Given the description of an element on the screen output the (x, y) to click on. 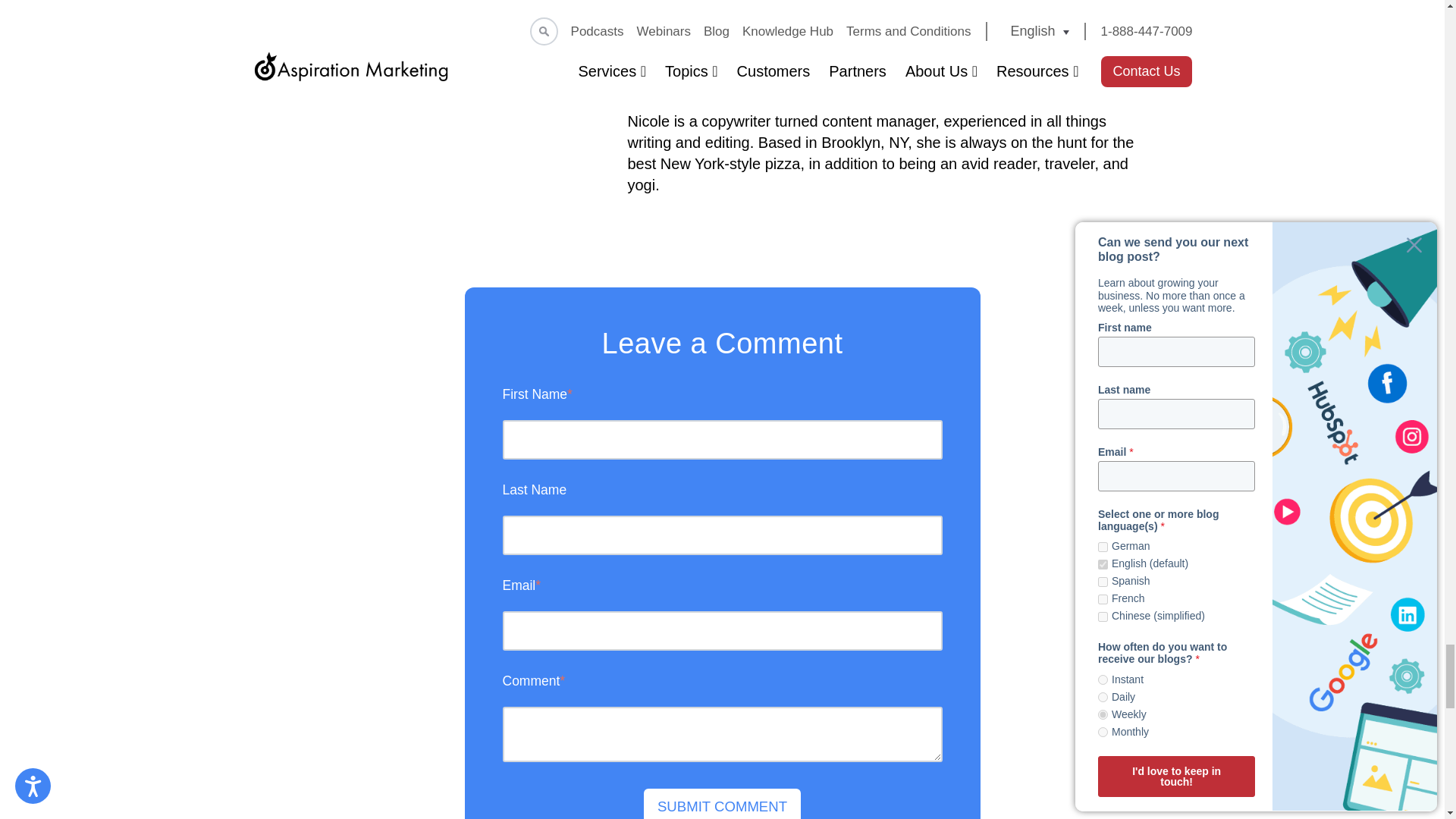
Submit Comment (721, 803)
